Given the description of an element on the screen output the (x, y) to click on. 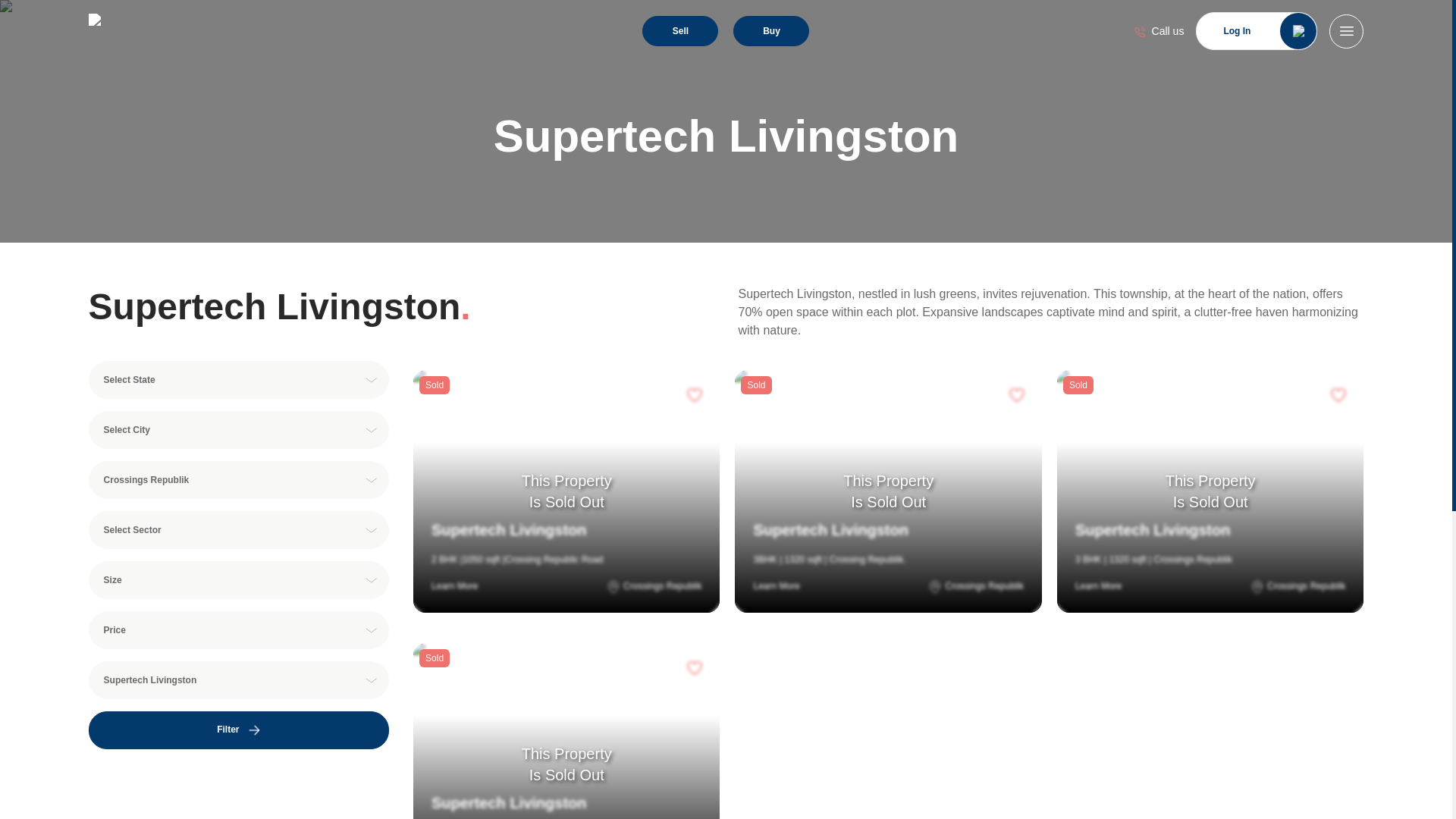
Buy (771, 30)
Filter (238, 730)
Log In (1256, 30)
Sell (679, 30)
